Given the description of an element on the screen output the (x, y) to click on. 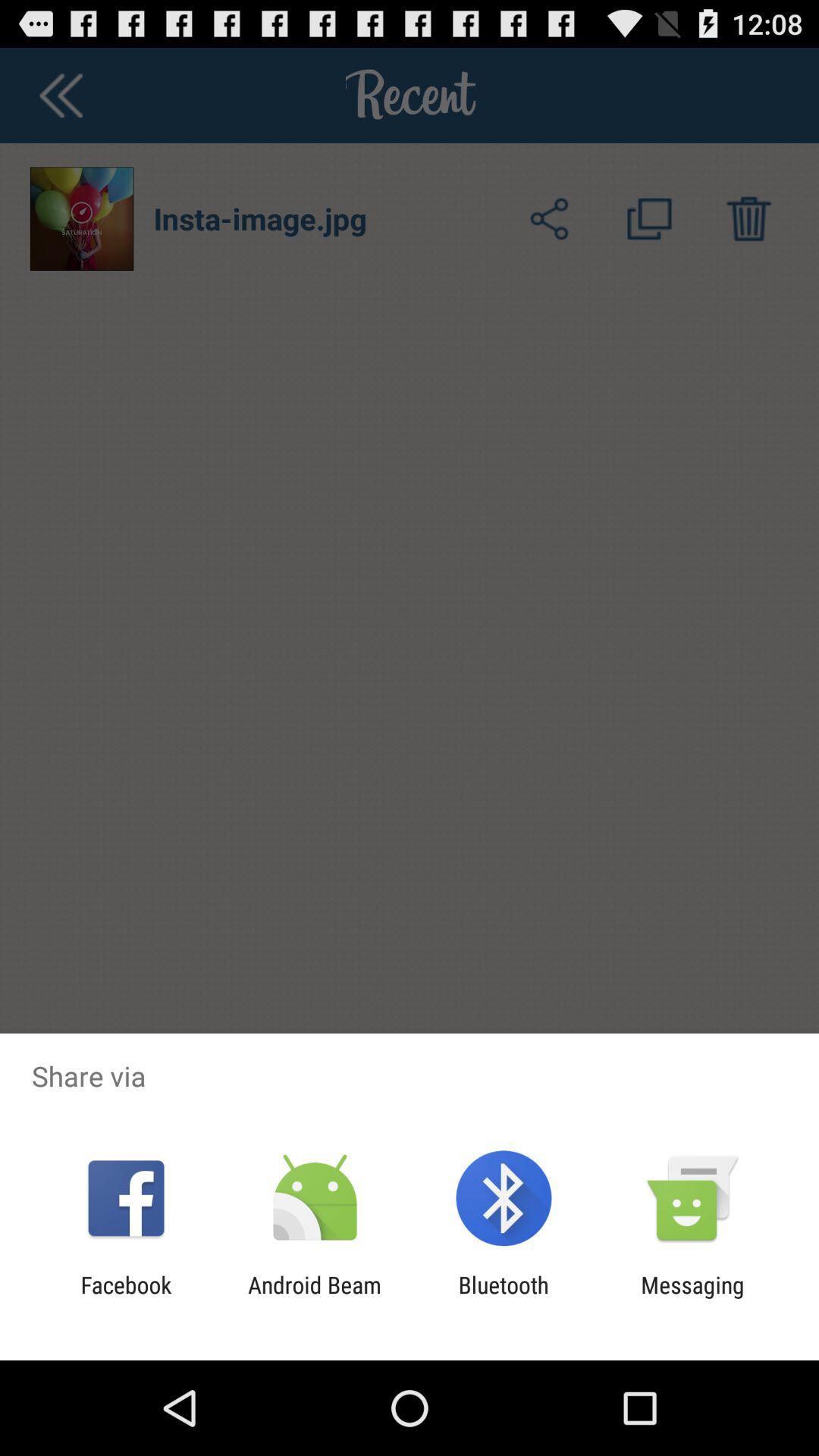
turn on app to the right of facebook (314, 1298)
